Given the description of an element on the screen output the (x, y) to click on. 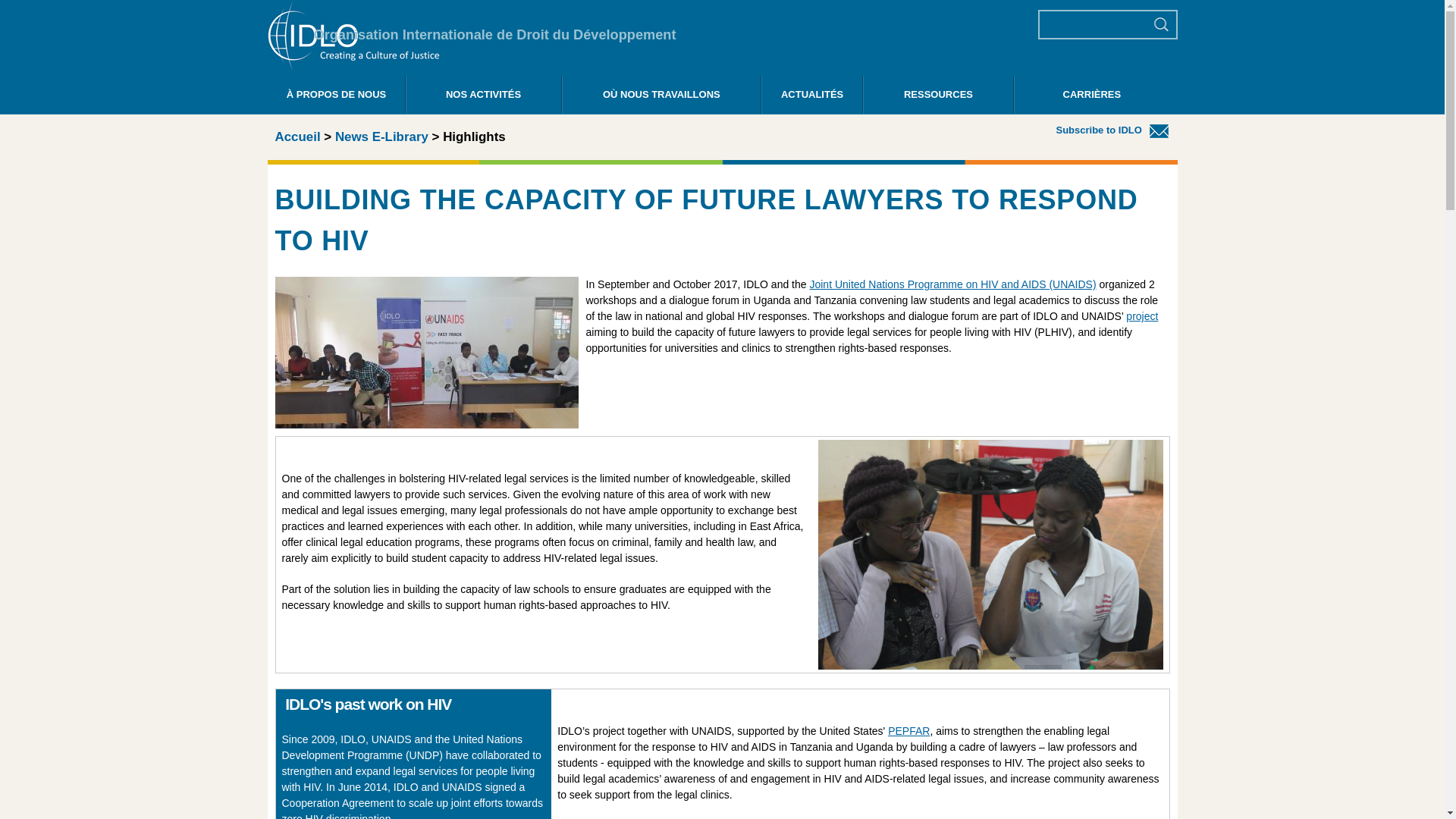
IDLO (352, 67)
Aller au contenu principal (695, 1)
